Given the description of an element on the screen output the (x, y) to click on. 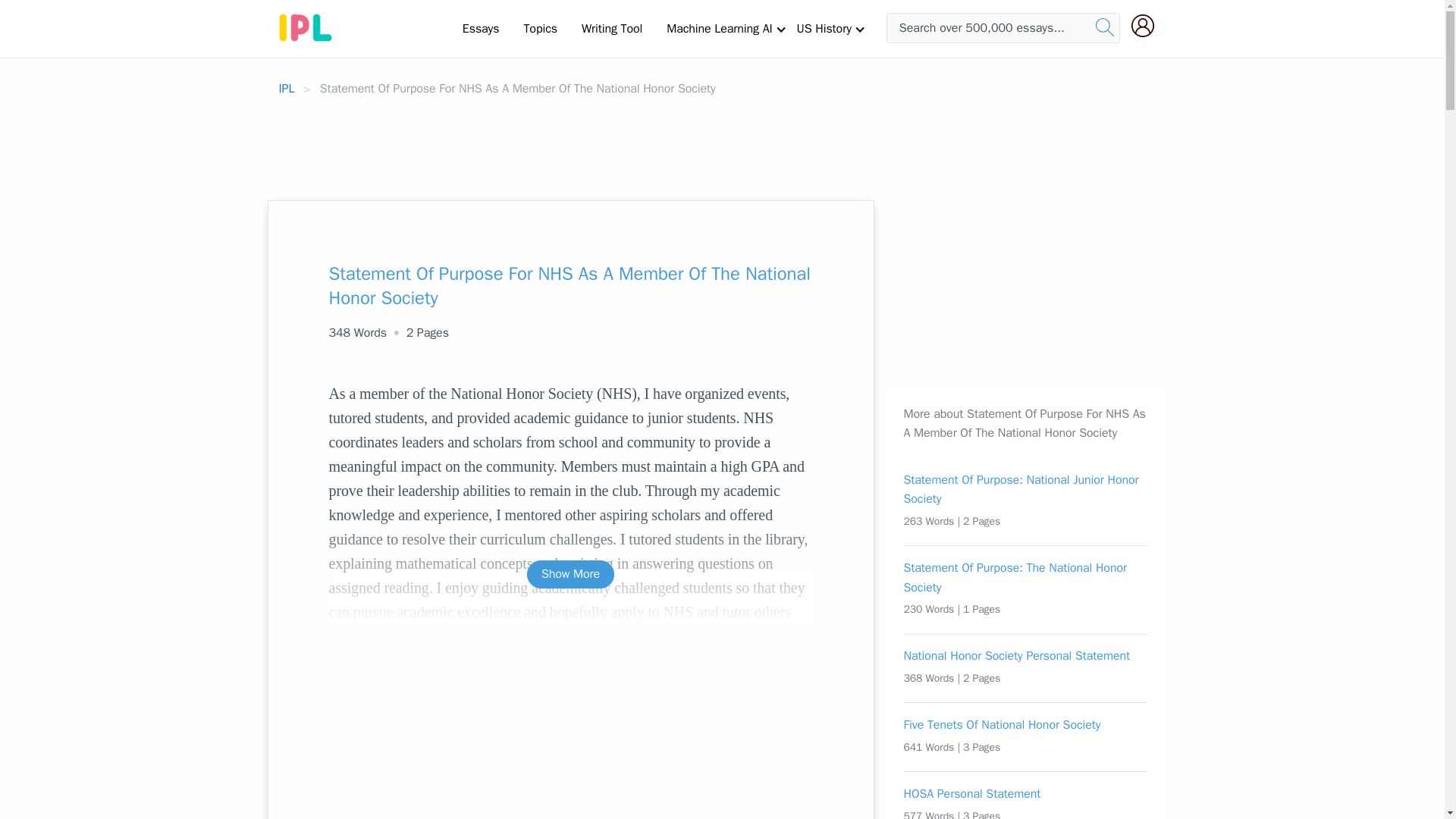
US History (823, 28)
Machine Learning AI (718, 28)
Topics (540, 28)
IPL (287, 88)
Writing Tool (611, 28)
Essays (480, 28)
Show More (570, 574)
